Given the description of an element on the screen output the (x, y) to click on. 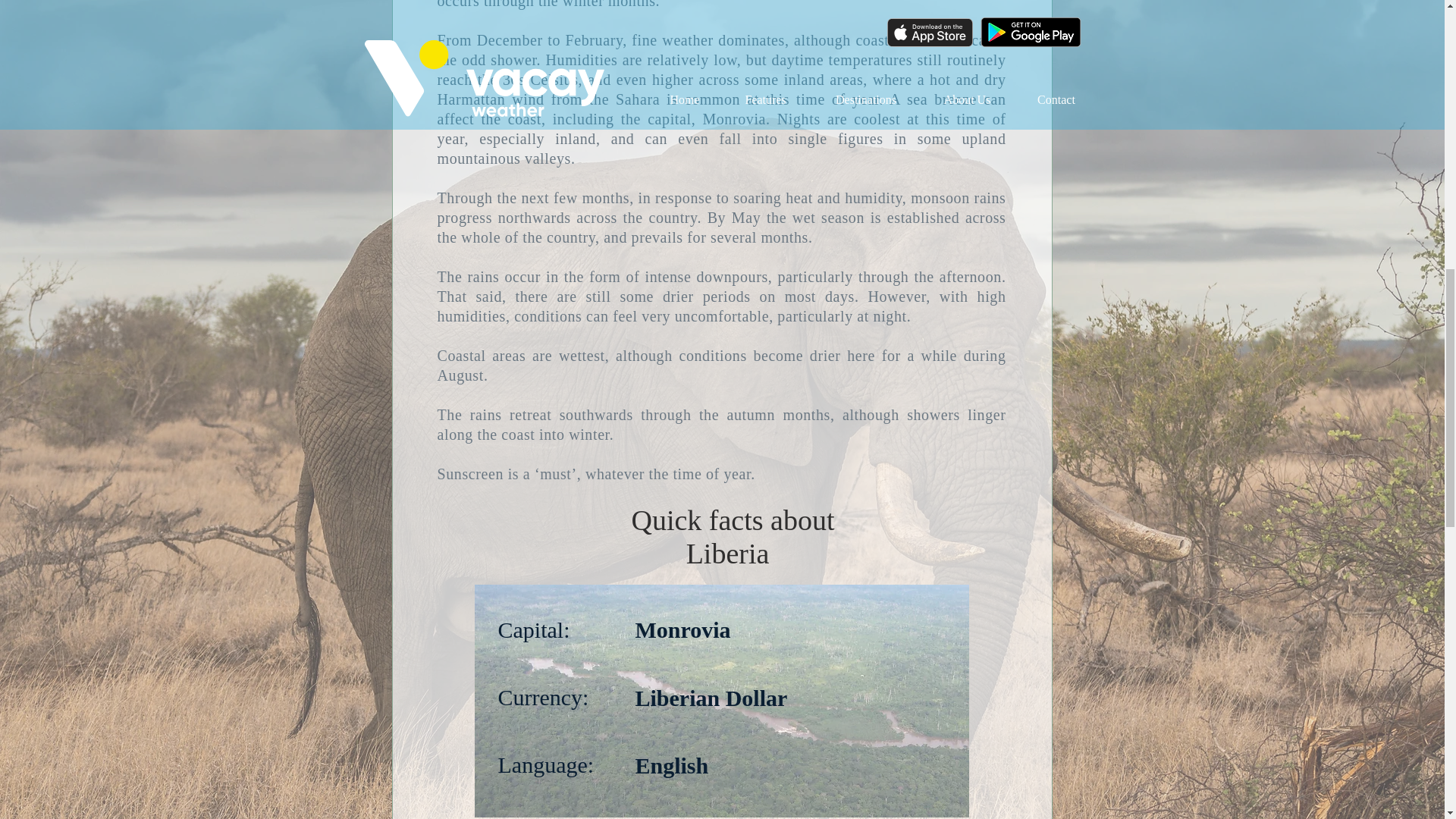
PIXNIO-45077-2367x1683.jpeg (721, 700)
